Given the description of an element on the screen output the (x, y) to click on. 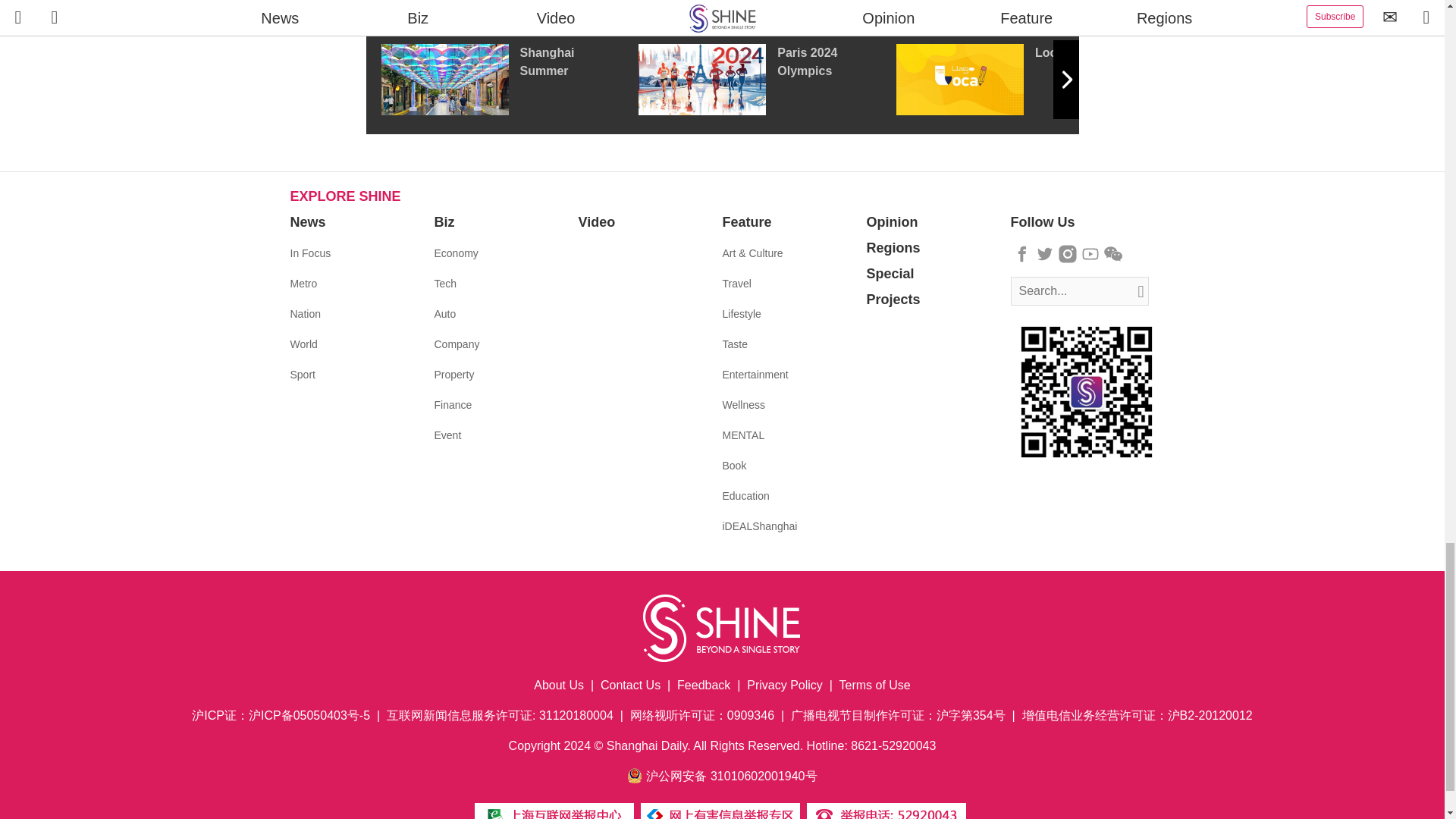
Paris 2024 Olympics (767, 79)
Special Reports (721, 8)
Follow us on Twitter (1044, 253)
Follow us on Youtube (1090, 253)
Follow us on Instagram (1067, 253)
Local Lingo (1024, 79)
Follow us on Wechat (1112, 253)
Shanghai Summer (508, 79)
Follow us on Facebook (1021, 253)
